Given the description of an element on the screen output the (x, y) to click on. 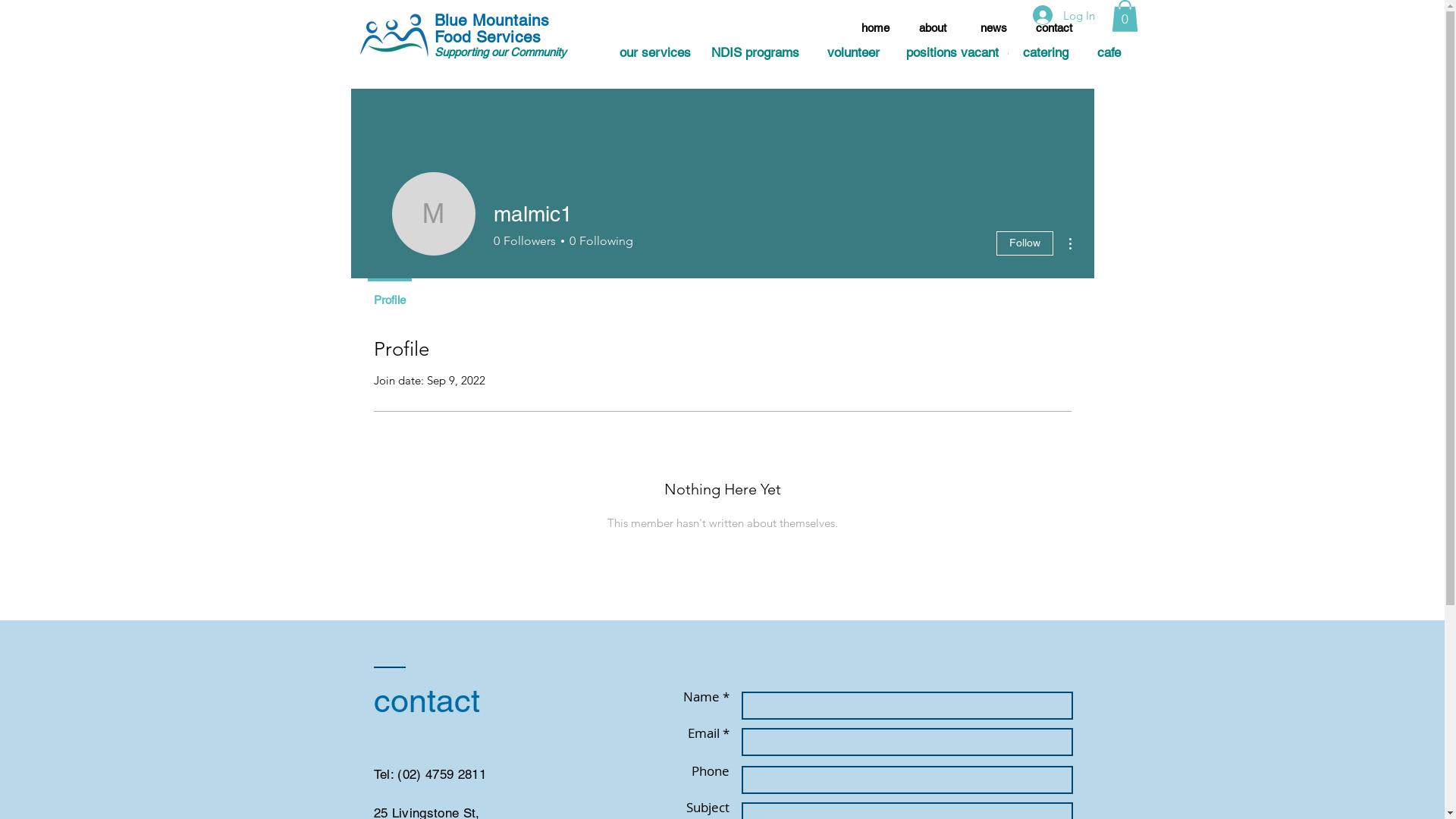
our services Element type: text (655, 52)
contact Element type: text (1054, 26)
home Element type: text (874, 26)
Log In Element type: text (1063, 14)
NDIS programs Element type: text (754, 52)
about Element type: text (932, 26)
0 Element type: text (1124, 15)
volunteer Element type: text (852, 52)
Follow Element type: text (1024, 243)
catering Element type: text (1045, 52)
0
Followers Element type: text (523, 240)
Profile Element type: text (388, 293)
0
Following Element type: text (598, 240)
positions vacant Element type: text (951, 52)
cafe Element type: text (1108, 52)
news Element type: text (992, 26)
